Given the description of an element on the screen output the (x, y) to click on. 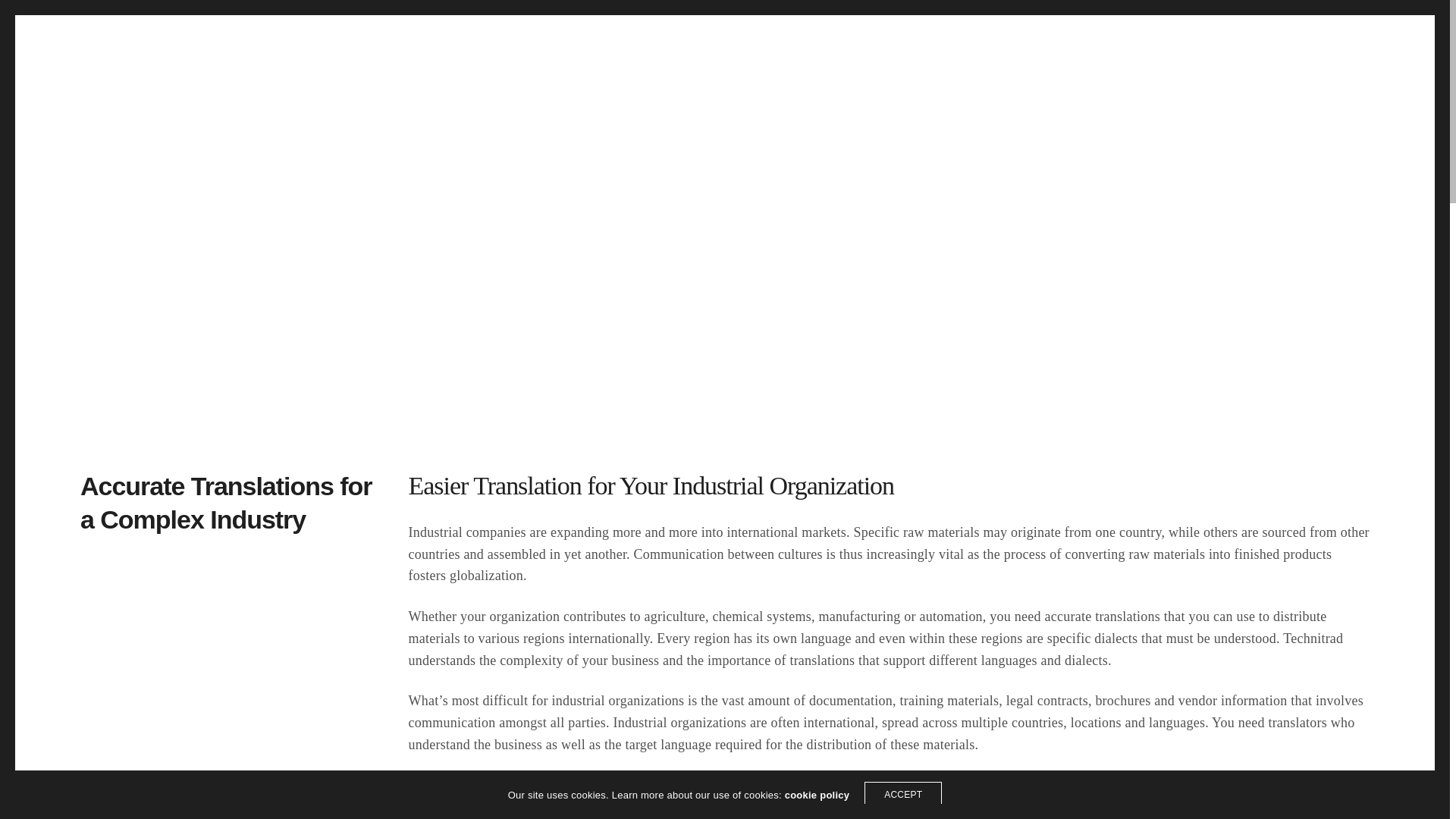
Contact Us (1281, 461)
Marketing Materials (352, 632)
Construction (662, 612)
Search (1404, 47)
Technitrad (75, 47)
eLearning Courses (351, 612)
Business Documents (357, 651)
Engineering (660, 593)
Multilingual Desktop Publishing (166, 632)
Translation and Localization (157, 593)
Technical Communications (372, 593)
Globalization Consulting (147, 651)
Terminology Management (152, 612)
Services (1121, 47)
